Given the description of an element on the screen output the (x, y) to click on. 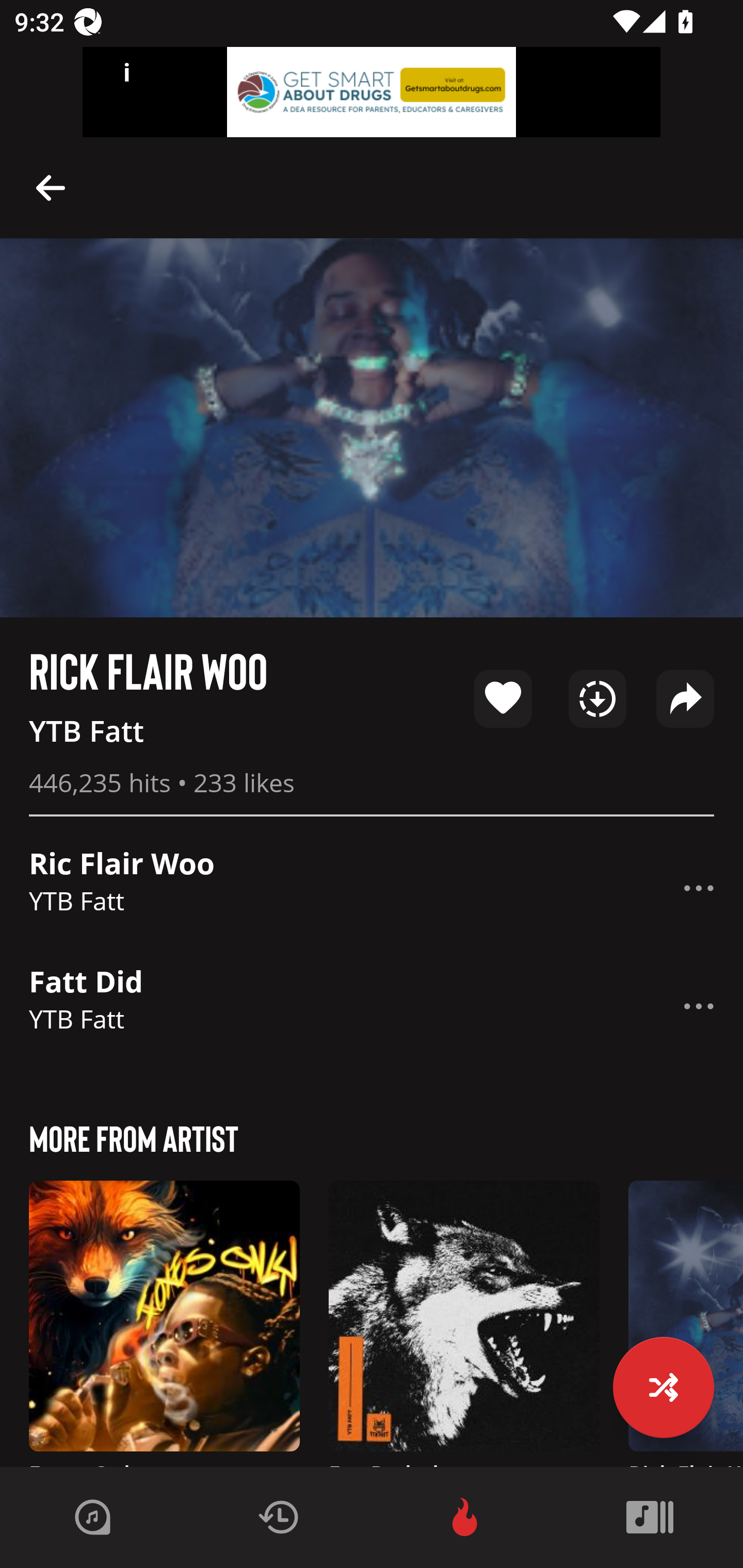
Description (50, 187)
Ric Flair Woo YTB Fatt Description (371, 888)
Description (698, 888)
Fatt Did YTB Fatt Description (371, 1005)
Description (698, 1005)
Description Foxes Only (164, 1323)
Description Fox Prelude (463, 1323)
